Given the description of an element on the screen output the (x, y) to click on. 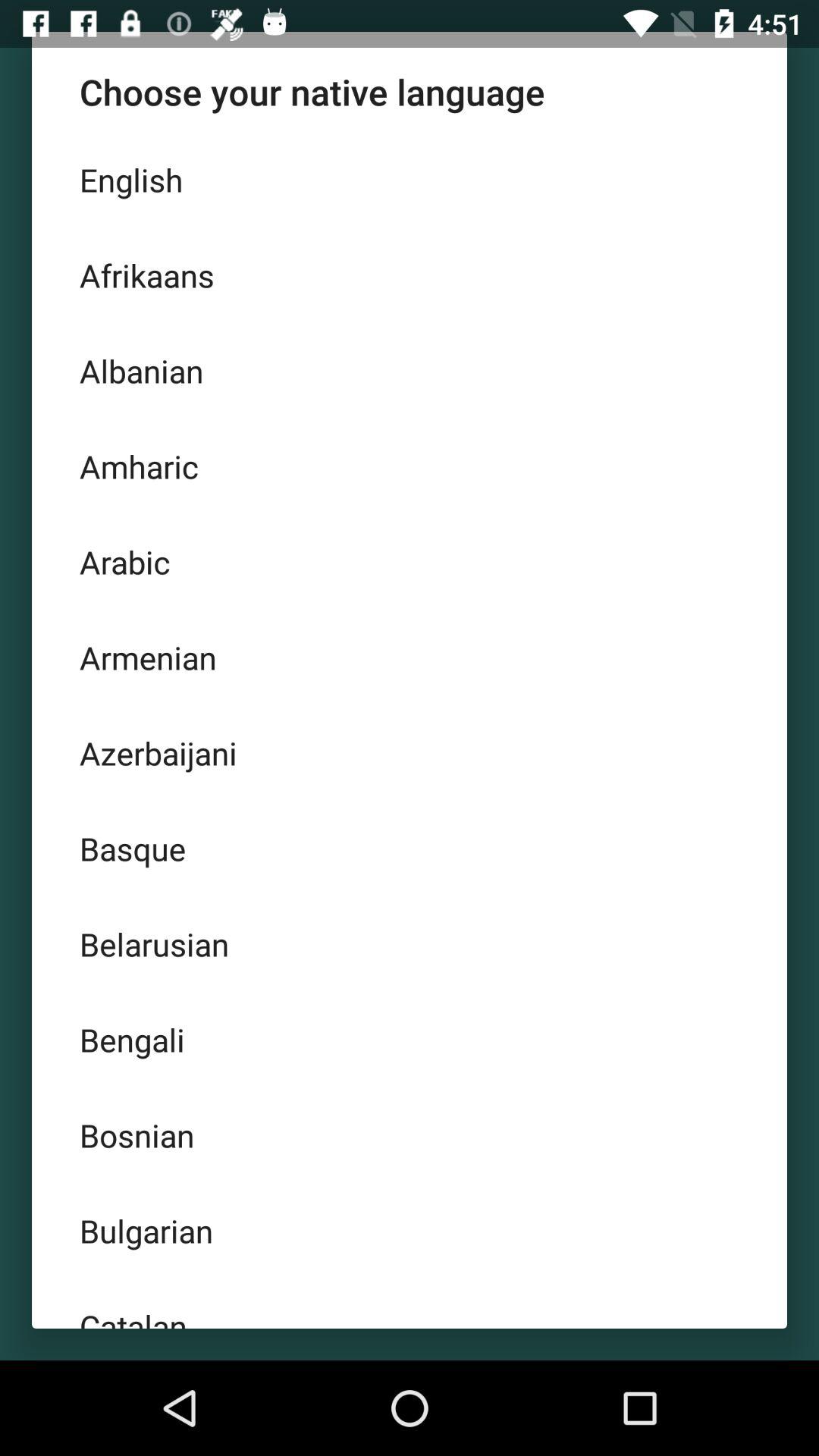
click item above albanian (409, 275)
